Given the description of an element on the screen output the (x, y) to click on. 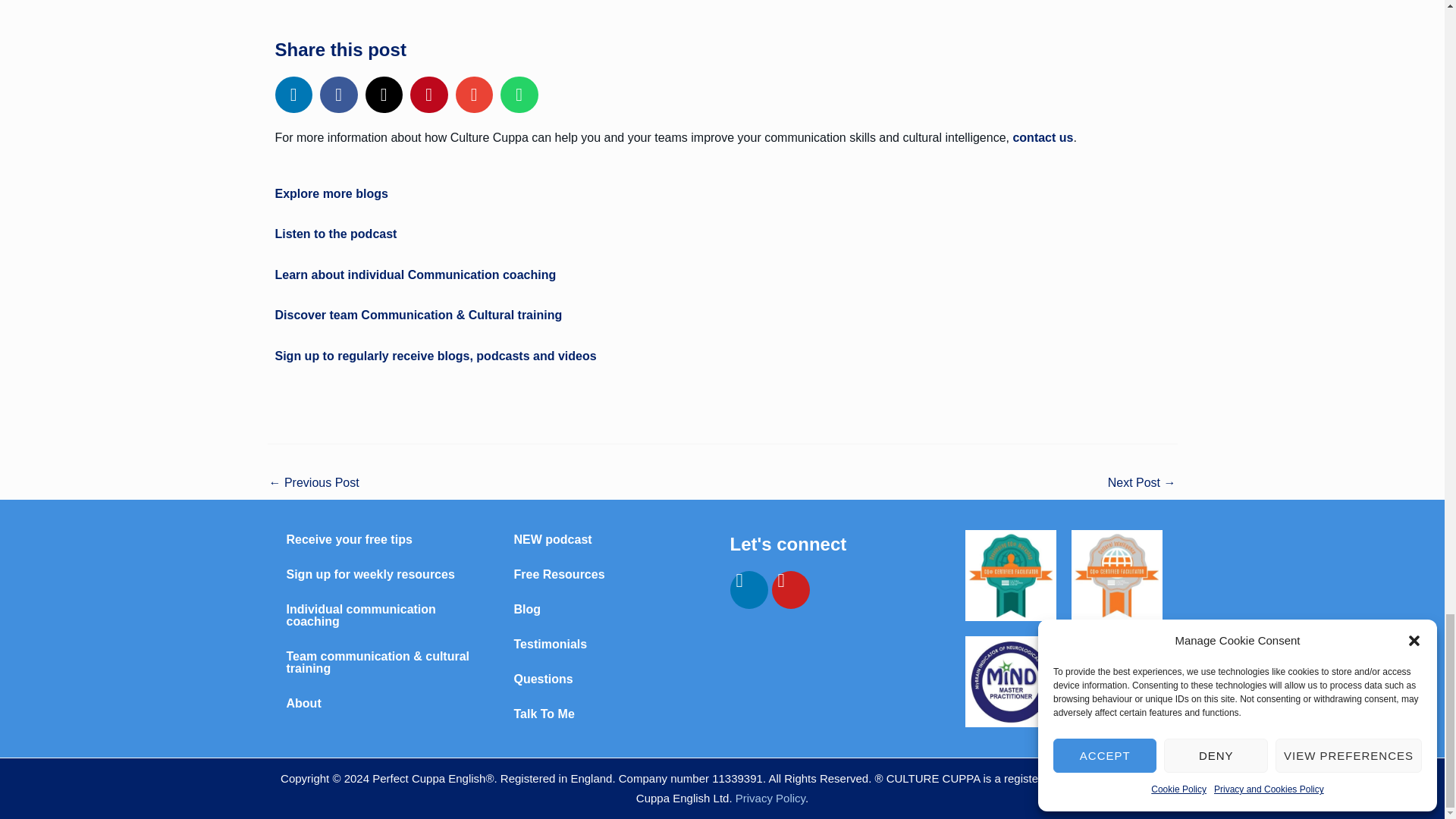
What Groundhog Day tells us about mindset (312, 483)
